Given the description of an element on the screen output the (x, y) to click on. 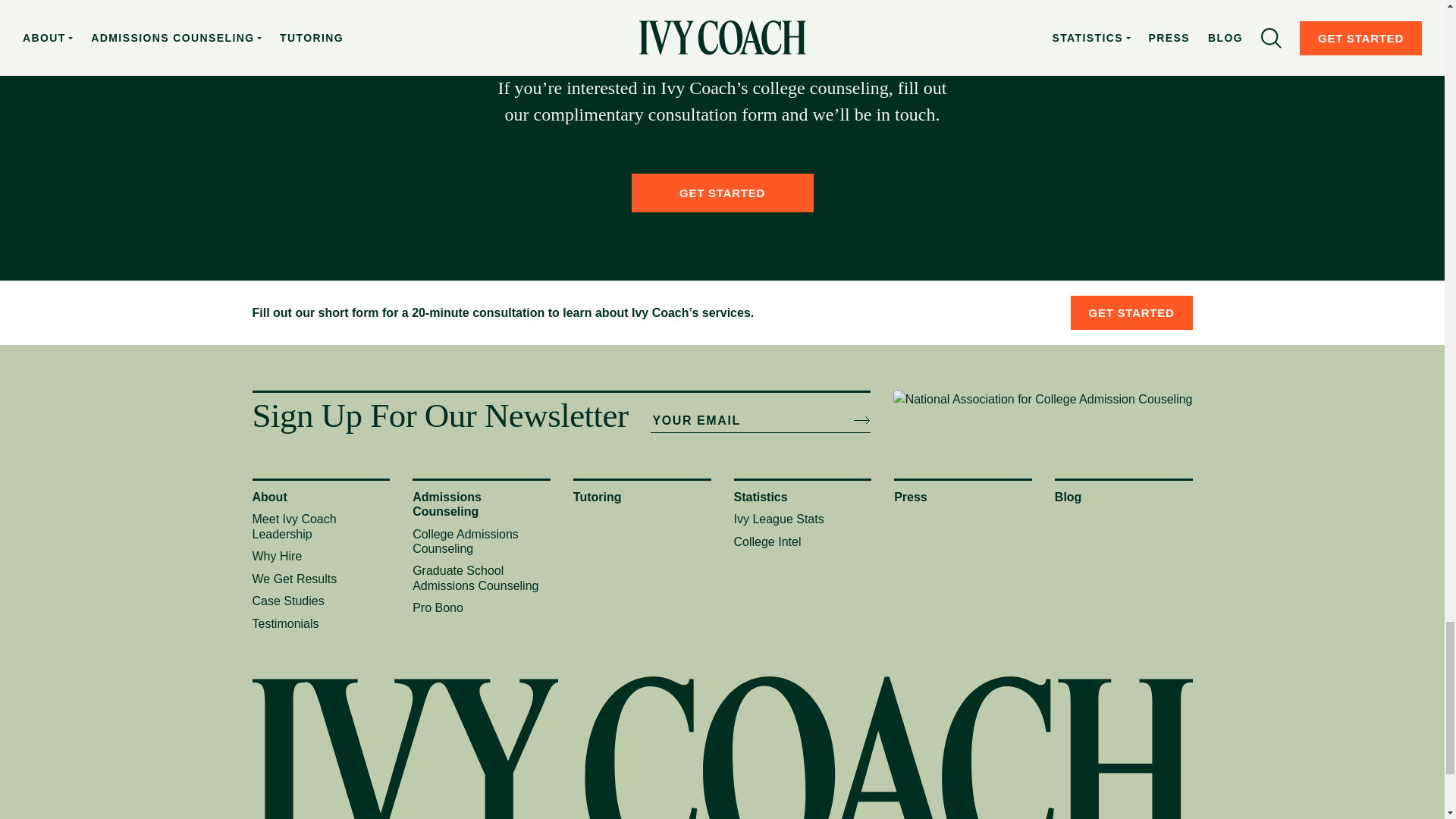
Why Hire (276, 555)
About (268, 496)
Meet Ivy Coach Leadership (293, 525)
GET STARTED (721, 192)
